Given the description of an element on the screen output the (x, y) to click on. 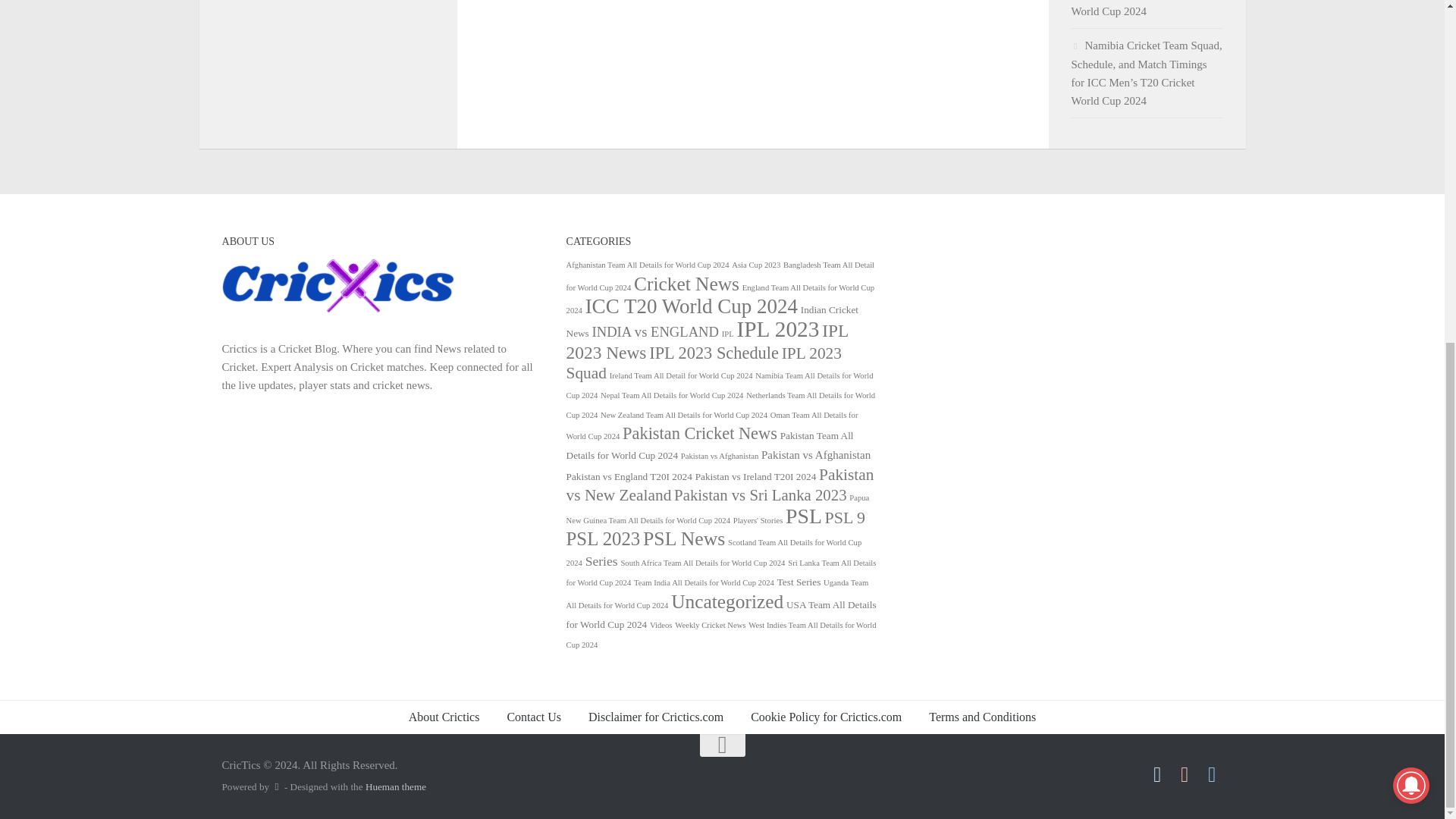
Follow us on Instagram (1184, 774)
Hueman theme (395, 786)
Follow us on Facebook (1157, 774)
COLORNEWS (337, 312)
Powered by WordPress (275, 786)
